Given the description of an element on the screen output the (x, y) to click on. 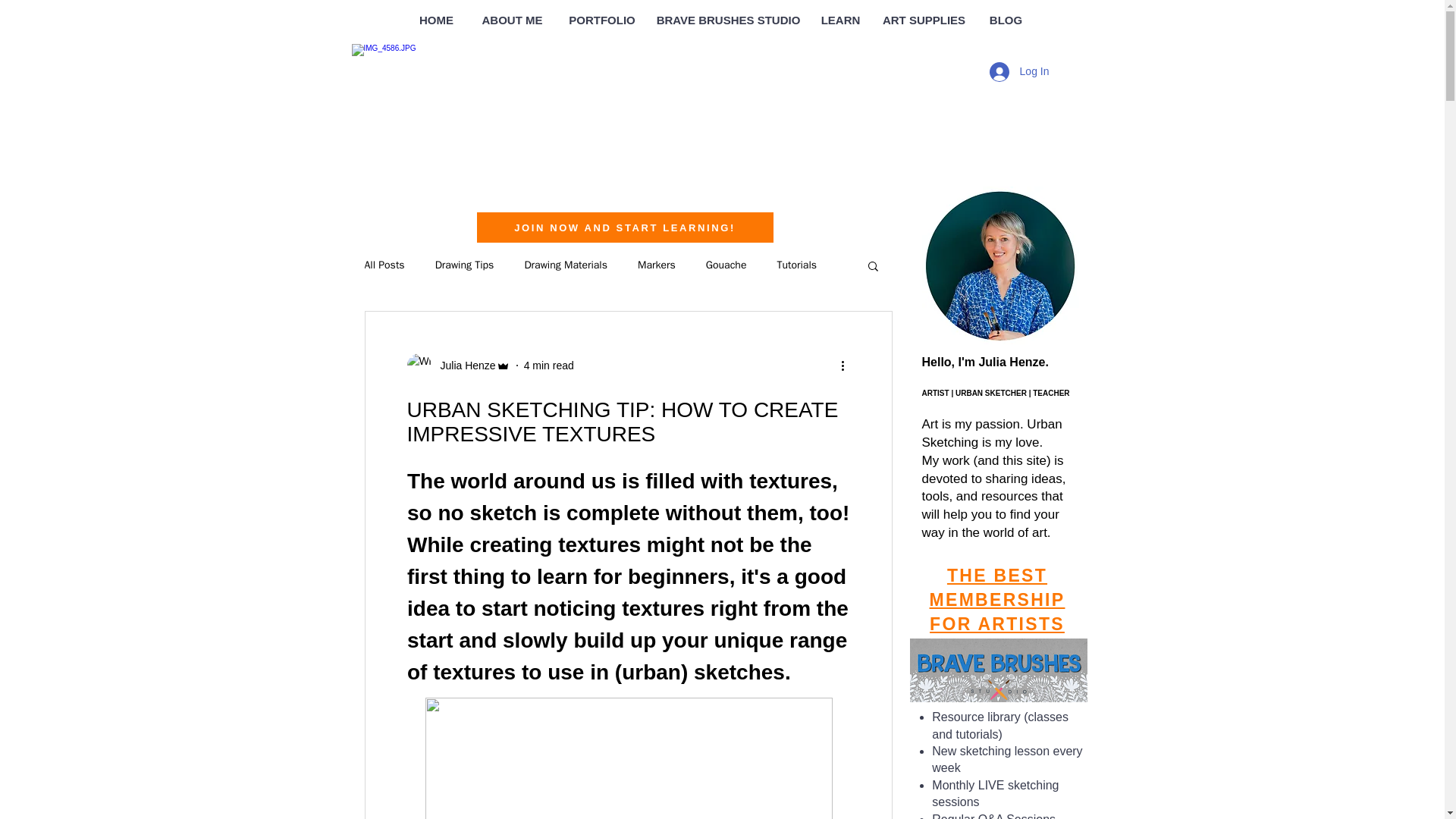
Tutorials (796, 264)
All Posts (384, 264)
PORTFOLIO (601, 19)
ART SUPPLIES (923, 19)
LEARN (840, 19)
BLOG (1005, 19)
ABOUT ME (512, 19)
Markers (656, 264)
Drawing Materials (565, 264)
Drawing Tips (465, 264)
Julia Henze (462, 365)
Gouache (726, 264)
Julia Henze (457, 364)
4 min read (548, 365)
HOME (436, 19)
